Given the description of an element on the screen output the (x, y) to click on. 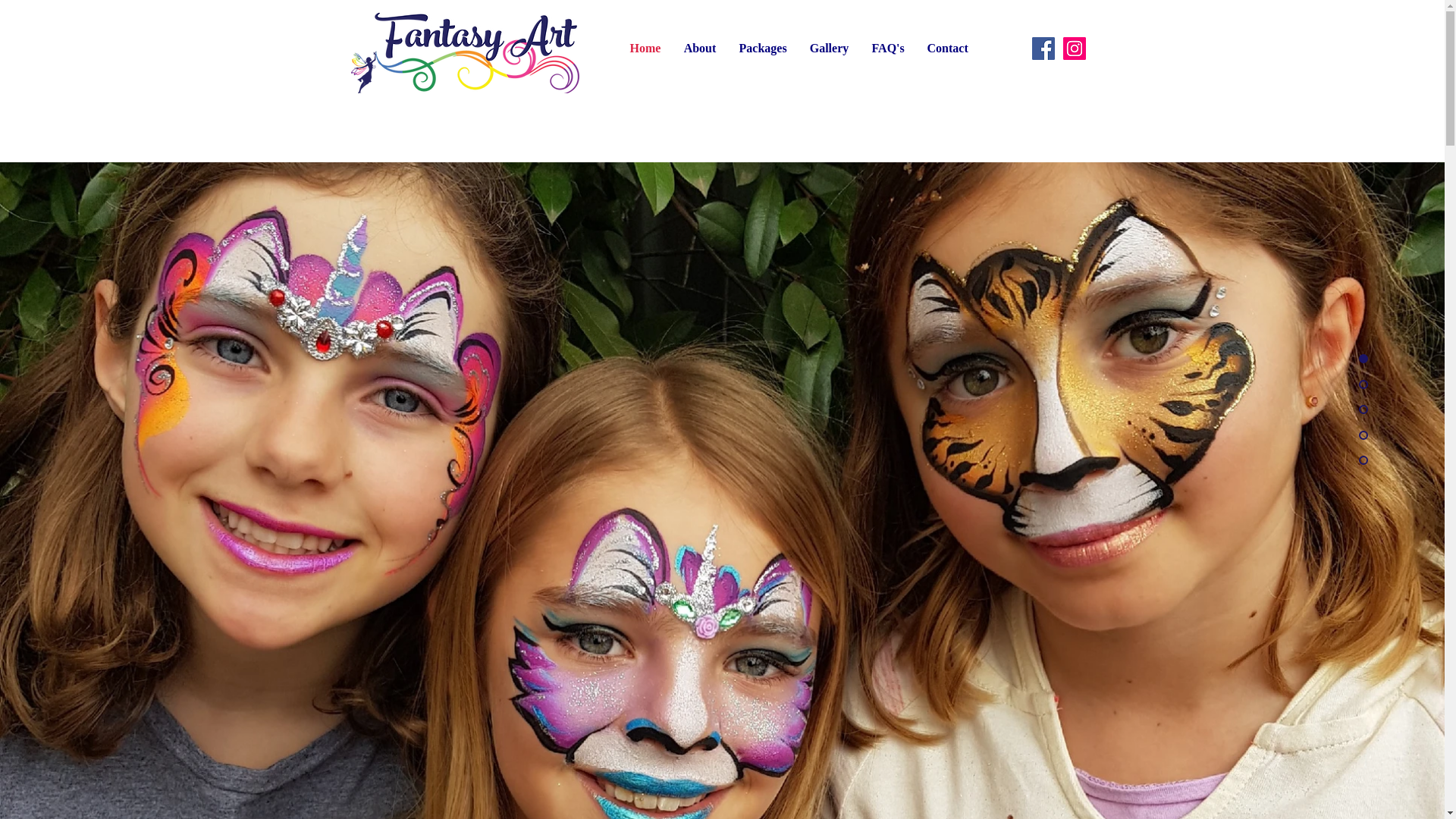
Gallery Element type: text (828, 48)
Packages Element type: text (763, 48)
Home Element type: text (645, 48)
About Element type: text (699, 48)
Contact Element type: text (947, 48)
FAQ's Element type: text (887, 48)
